Given the description of an element on the screen output the (x, y) to click on. 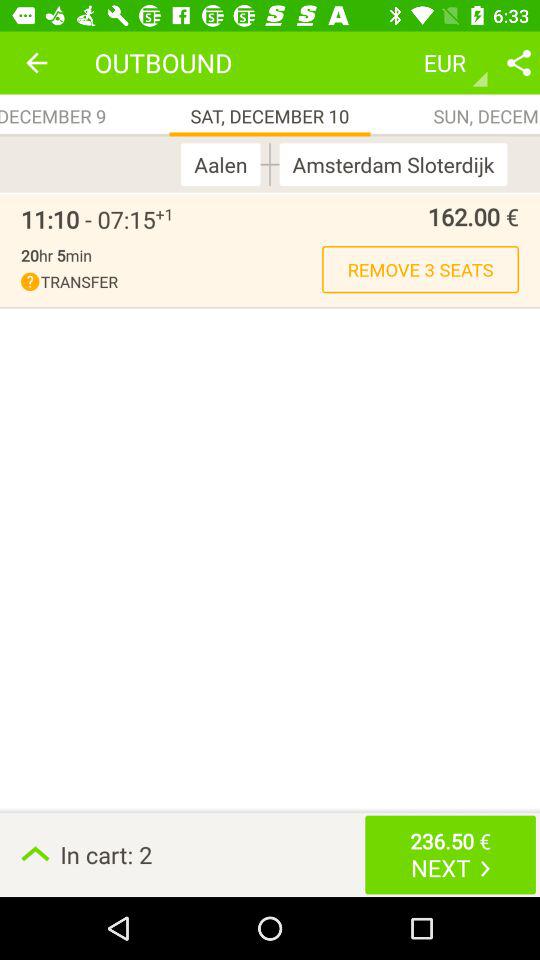
share (519, 62)
